Given the description of an element on the screen output the (x, y) to click on. 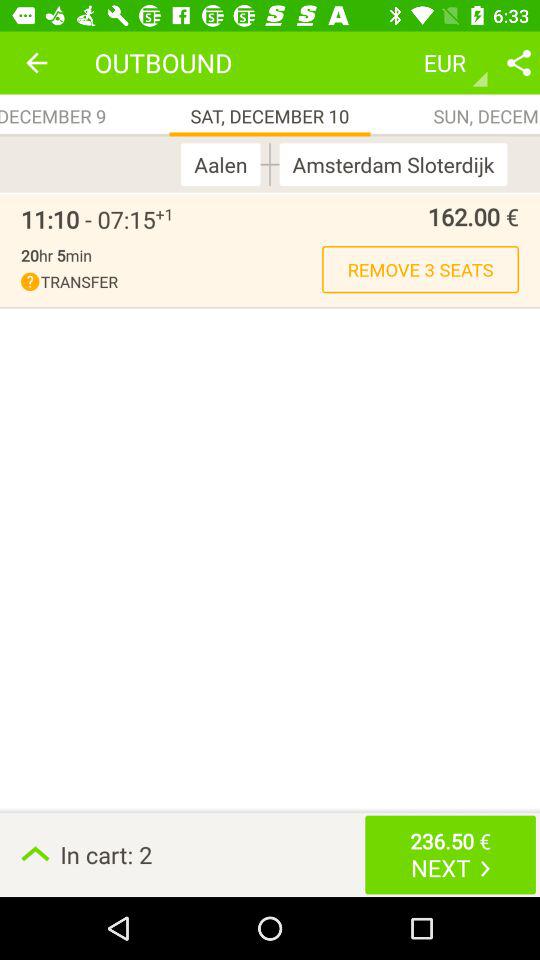
share (519, 62)
